Given the description of an element on the screen output the (x, y) to click on. 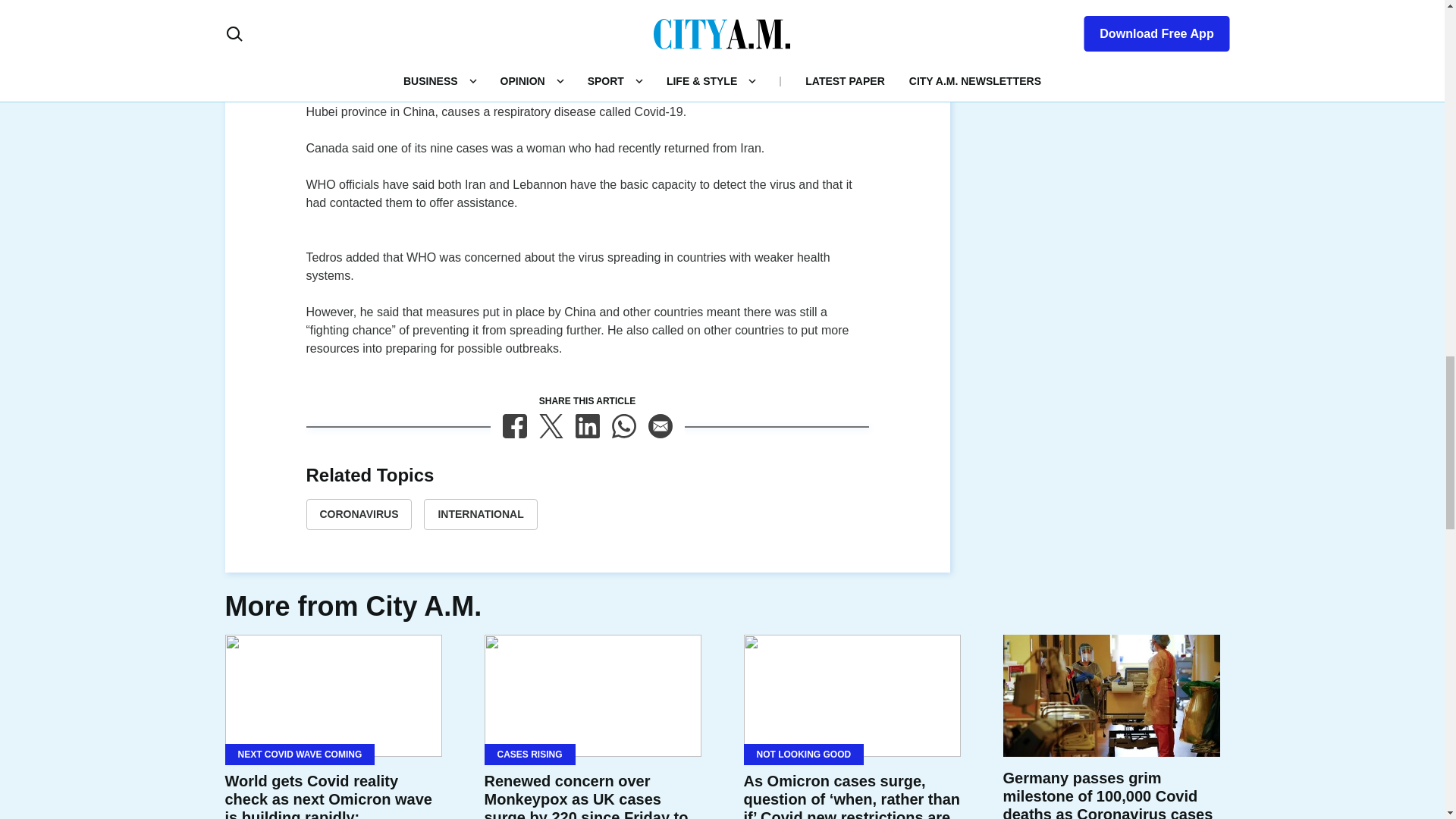
WhatsApp (622, 426)
LinkedIn (586, 426)
Facebook (513, 426)
X (550, 426)
Email (659, 426)
